Given the description of an element on the screen output the (x, y) to click on. 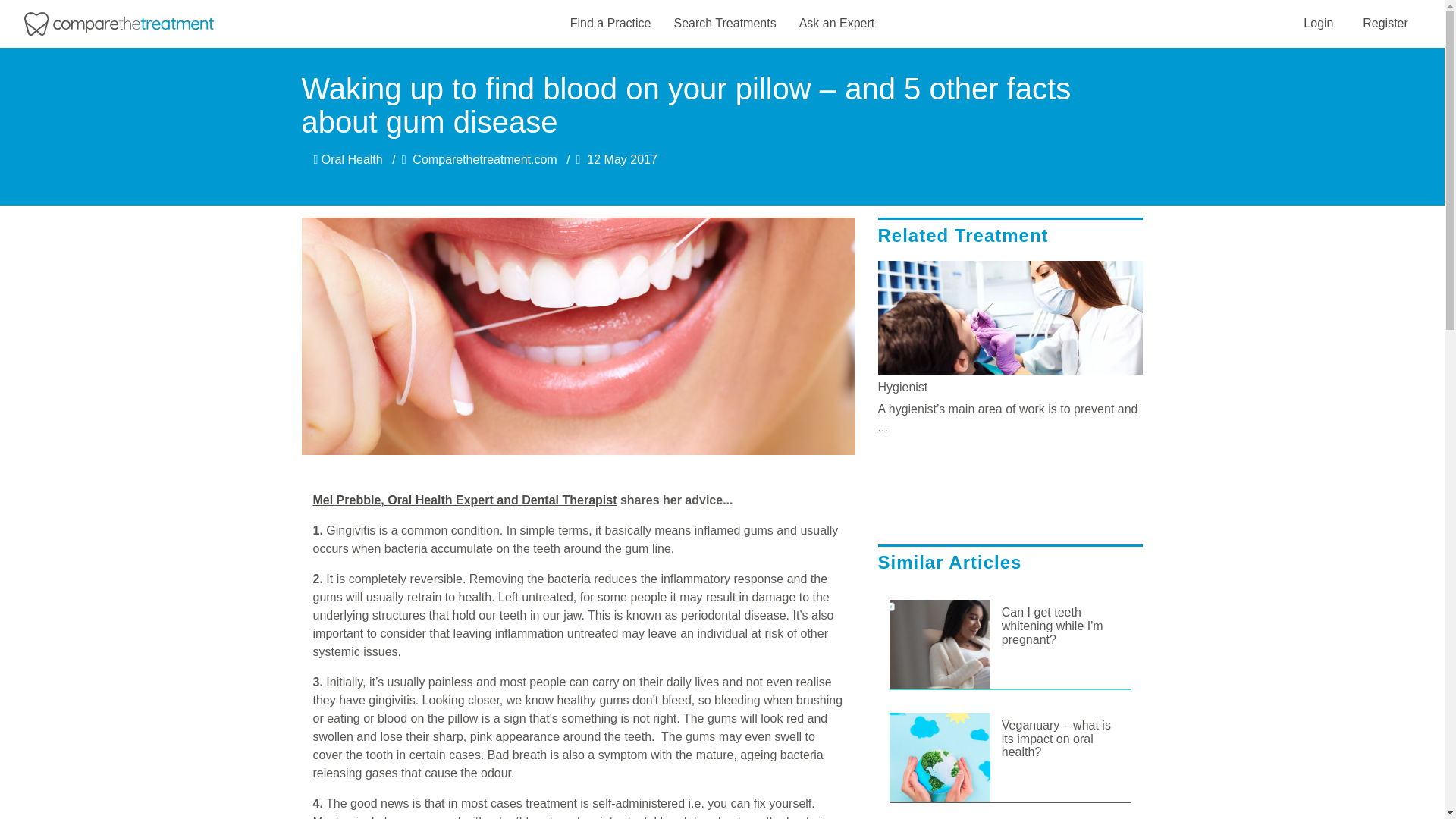
 Oral Health (348, 159)
Ask an Expert (837, 23)
Mel Prebble, Oral Health Expert and Dental Therapist (464, 499)
Can I get teeth whitening while I'm pregnant? (1061, 625)
Login (1318, 23)
Register (1386, 23)
Search Treatments (724, 23)
Hygienist (1009, 387)
Find a Practice (610, 23)
